Given the description of an element on the screen output the (x, y) to click on. 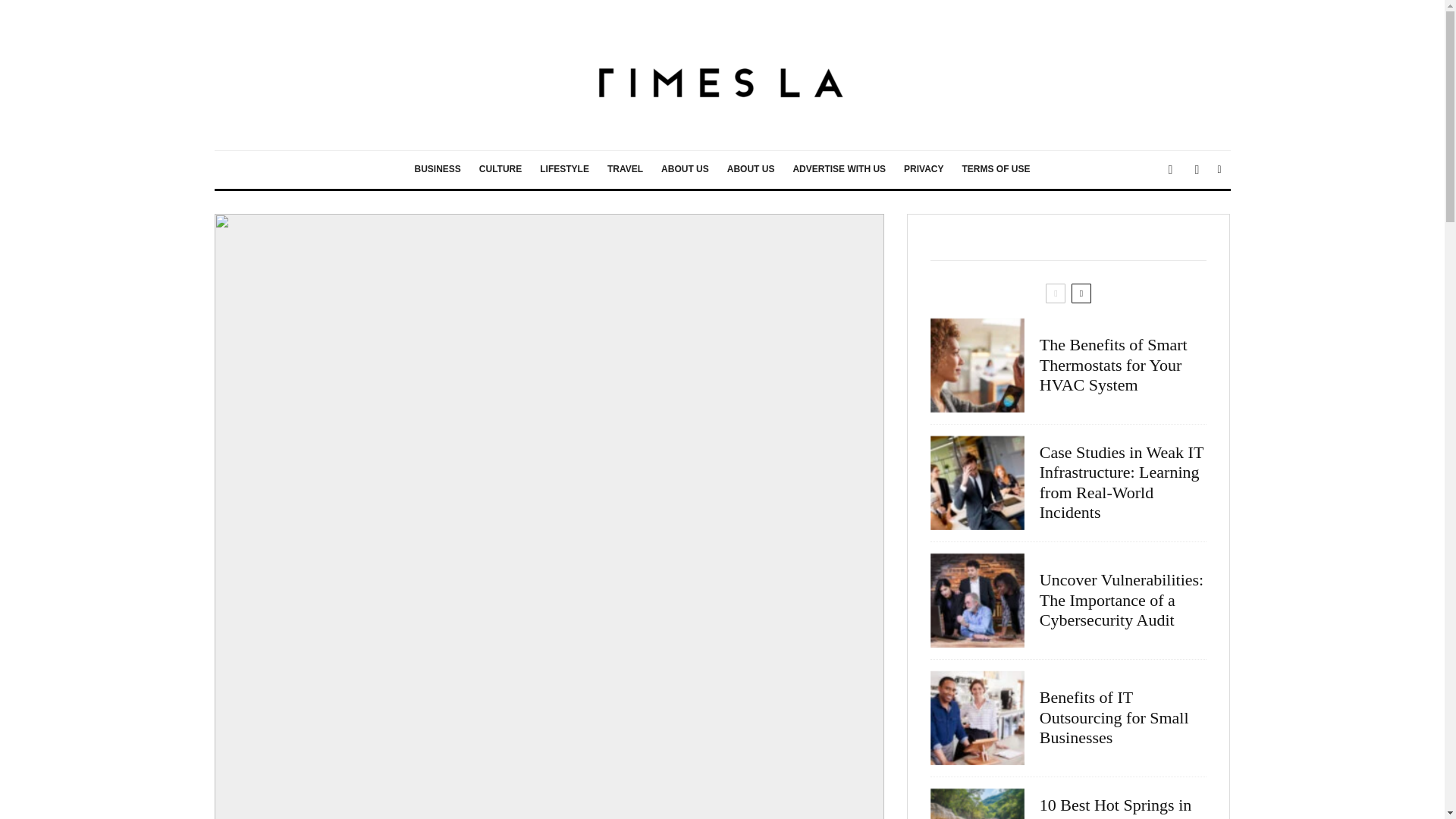
CULTURE (500, 169)
BUSINESS (436, 169)
LIFESTYLE (564, 169)
TRAVEL (625, 169)
